Given the description of an element on the screen output the (x, y) to click on. 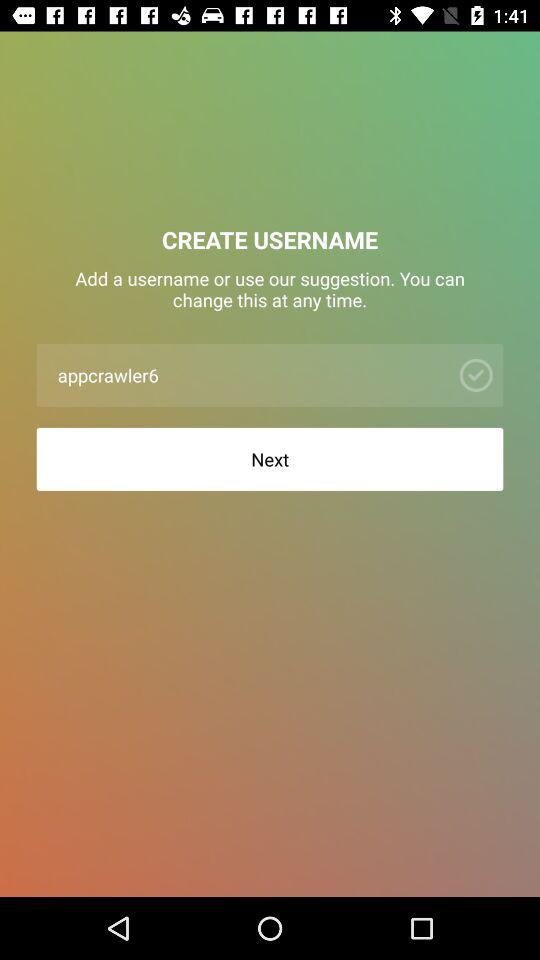
click the appcrawler6 item (247, 374)
